Given the description of an element on the screen output the (x, y) to click on. 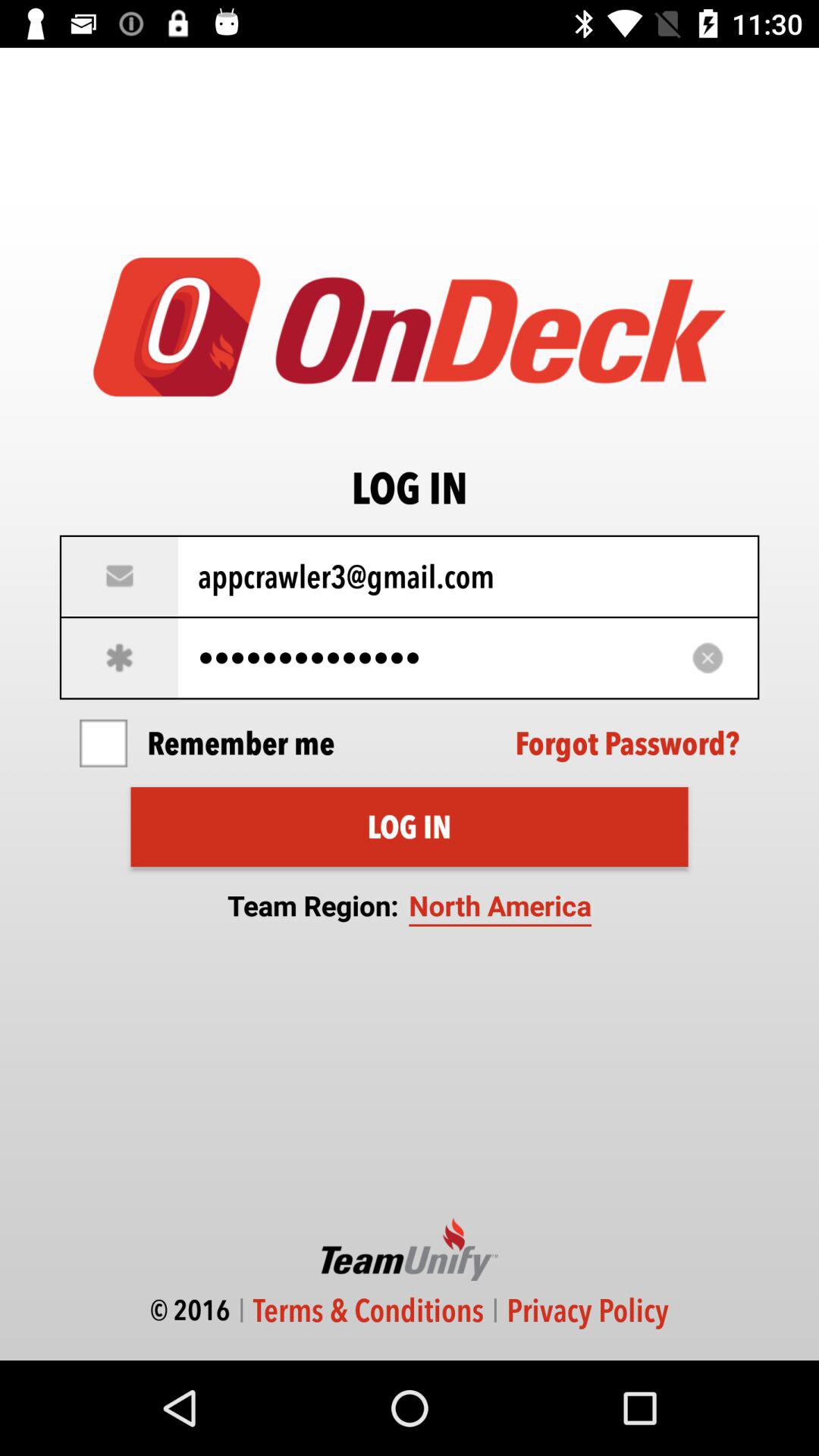
tap the appcrawler3@gmail.com icon (409, 576)
